Given the description of an element on the screen output the (x, y) to click on. 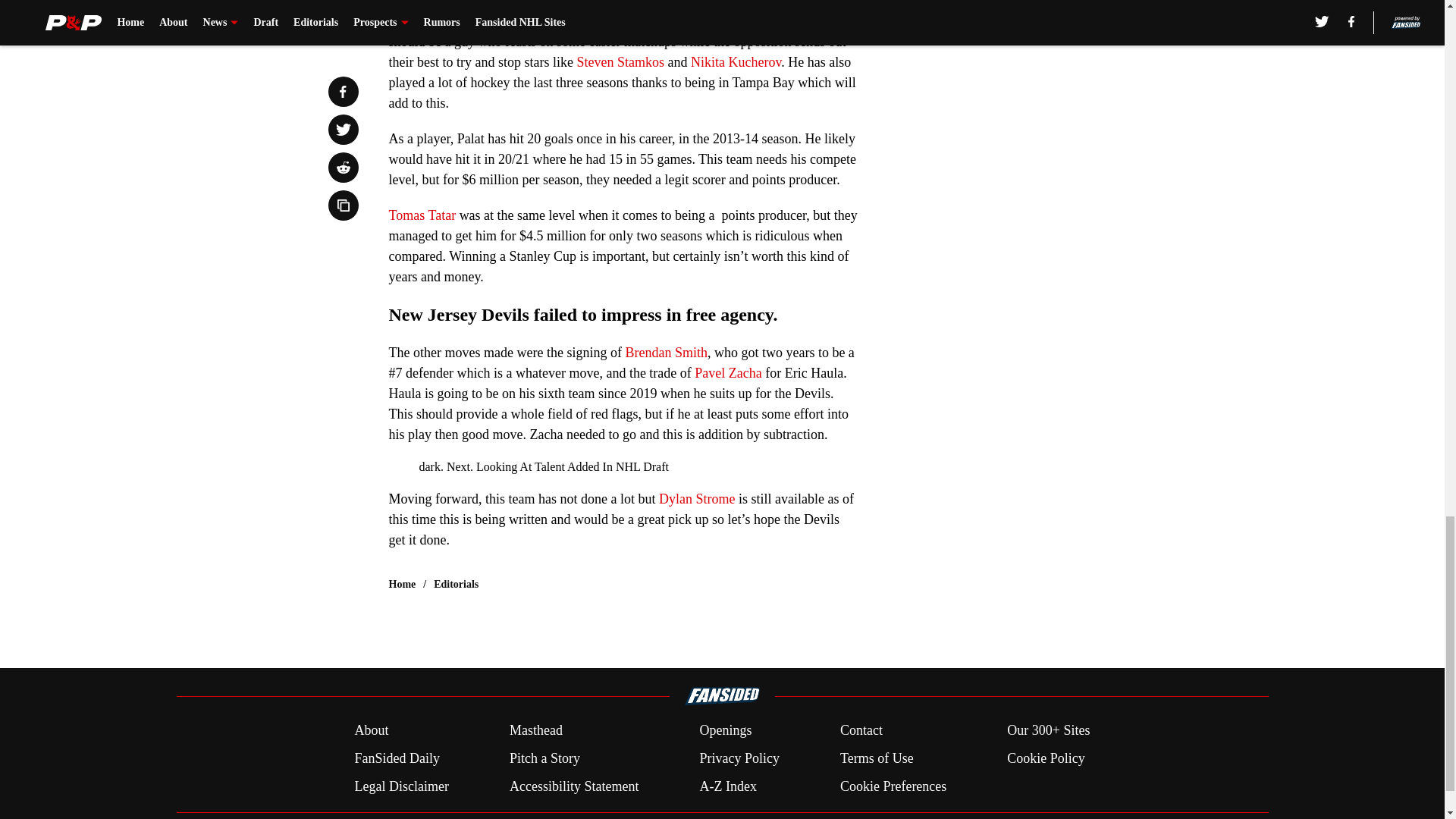
Tomas Tatar (421, 215)
Privacy Policy (738, 758)
Pitch a Story (544, 758)
FanSided Daily (396, 758)
Editorials (456, 584)
Home (401, 584)
Contact (861, 730)
Steven Stamkos (619, 61)
Masthead (535, 730)
About (370, 730)
Dylan Strome (697, 498)
Openings (724, 730)
Brendan Smith (665, 352)
Nikita Kucherov (735, 61)
Pavel Zacha (727, 372)
